Given the description of an element on the screen output the (x, y) to click on. 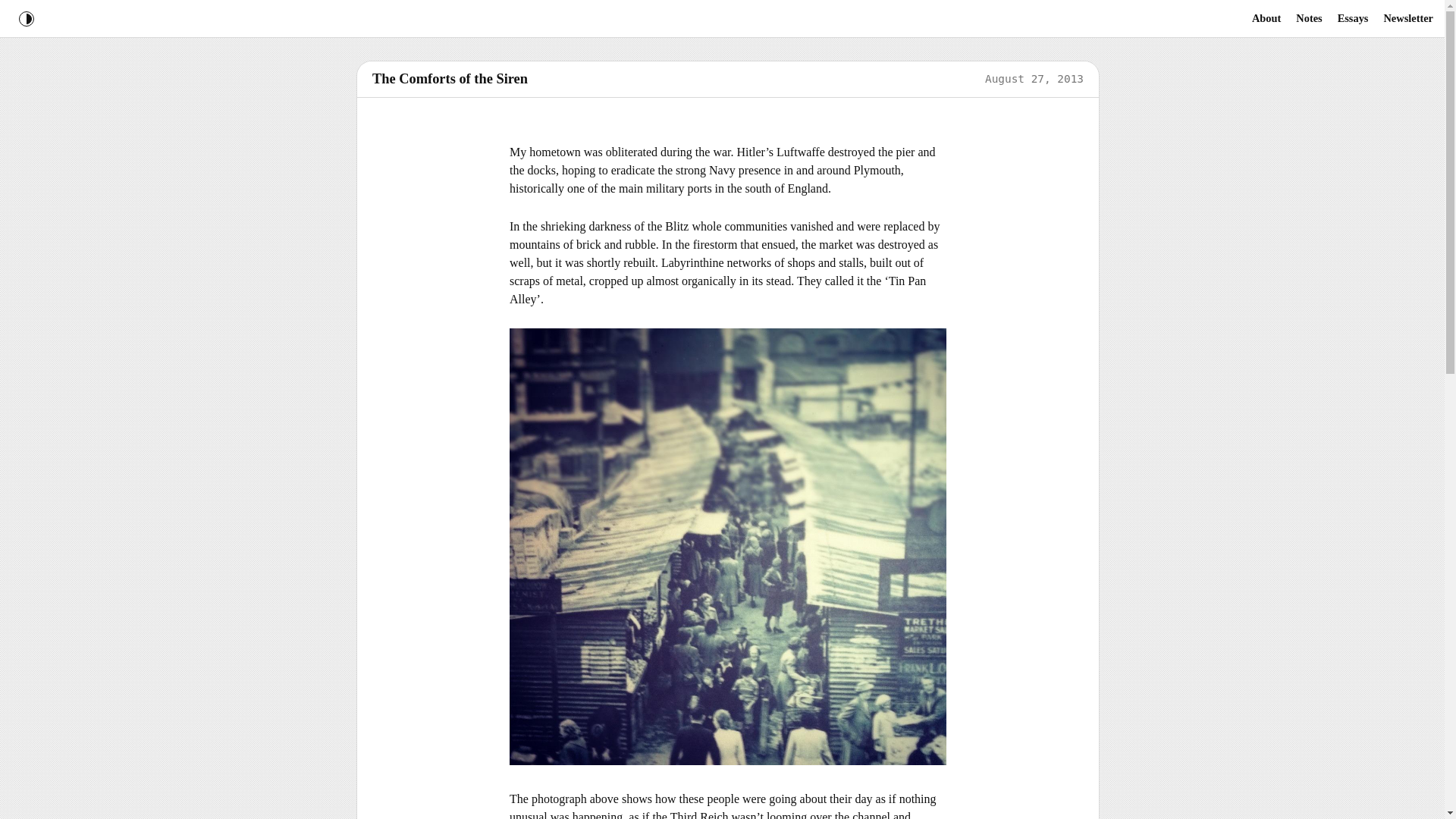
Notes (1308, 18)
About (1266, 18)
Essays (1352, 18)
Newsletter (1408, 18)
